Given the description of an element on the screen output the (x, y) to click on. 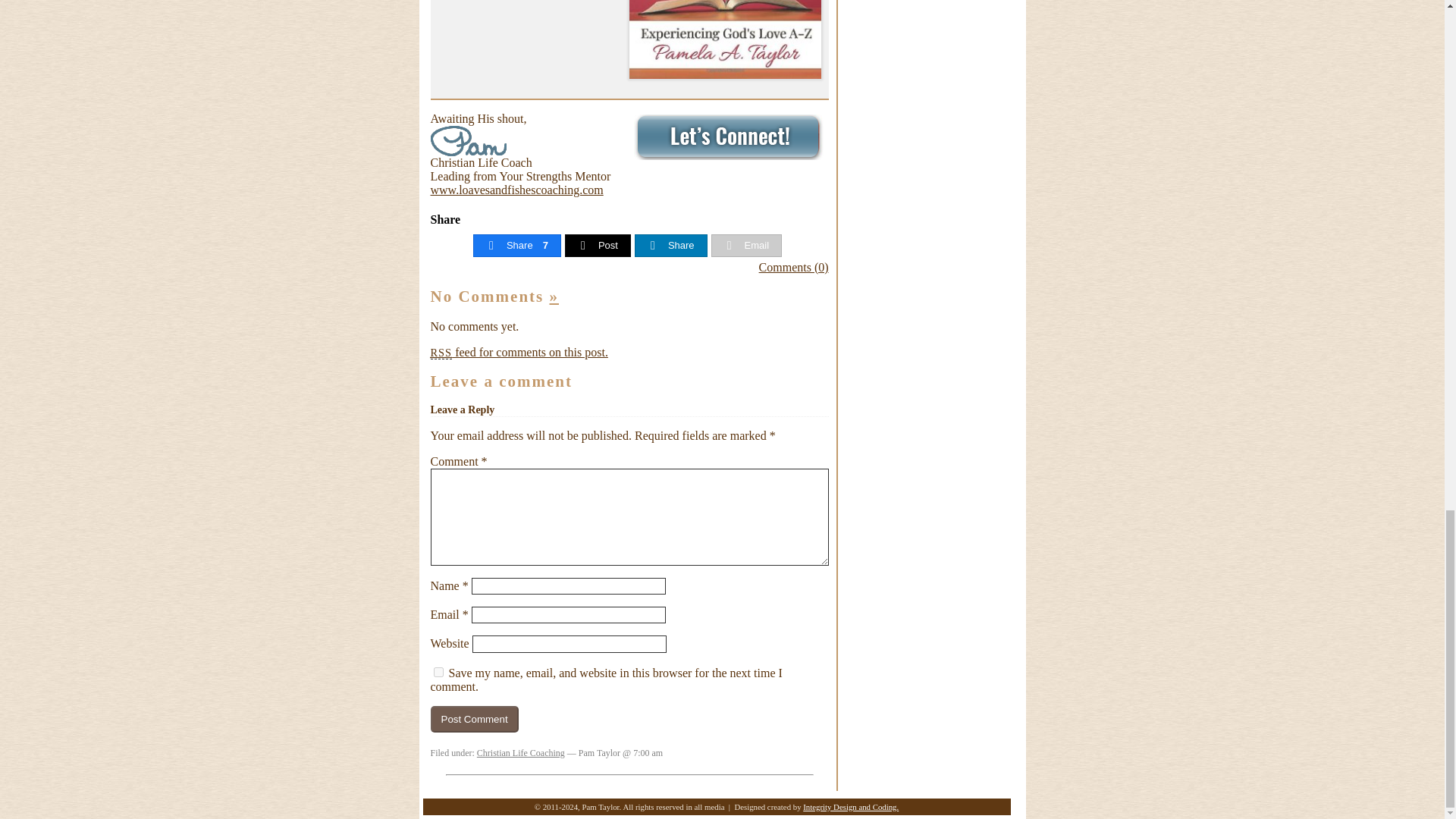
Integrity Design and Coding. (850, 806)
Share7 (517, 245)
Post (598, 245)
Email (746, 245)
Christian Life Coaching (520, 752)
RSS feed for comments on this post. (519, 351)
yes (438, 672)
Post Comment (474, 718)
Share (670, 245)
Post Comment (474, 718)
www.loavesandfishescoaching.com (517, 189)
